Given the description of an element on the screen output the (x, y) to click on. 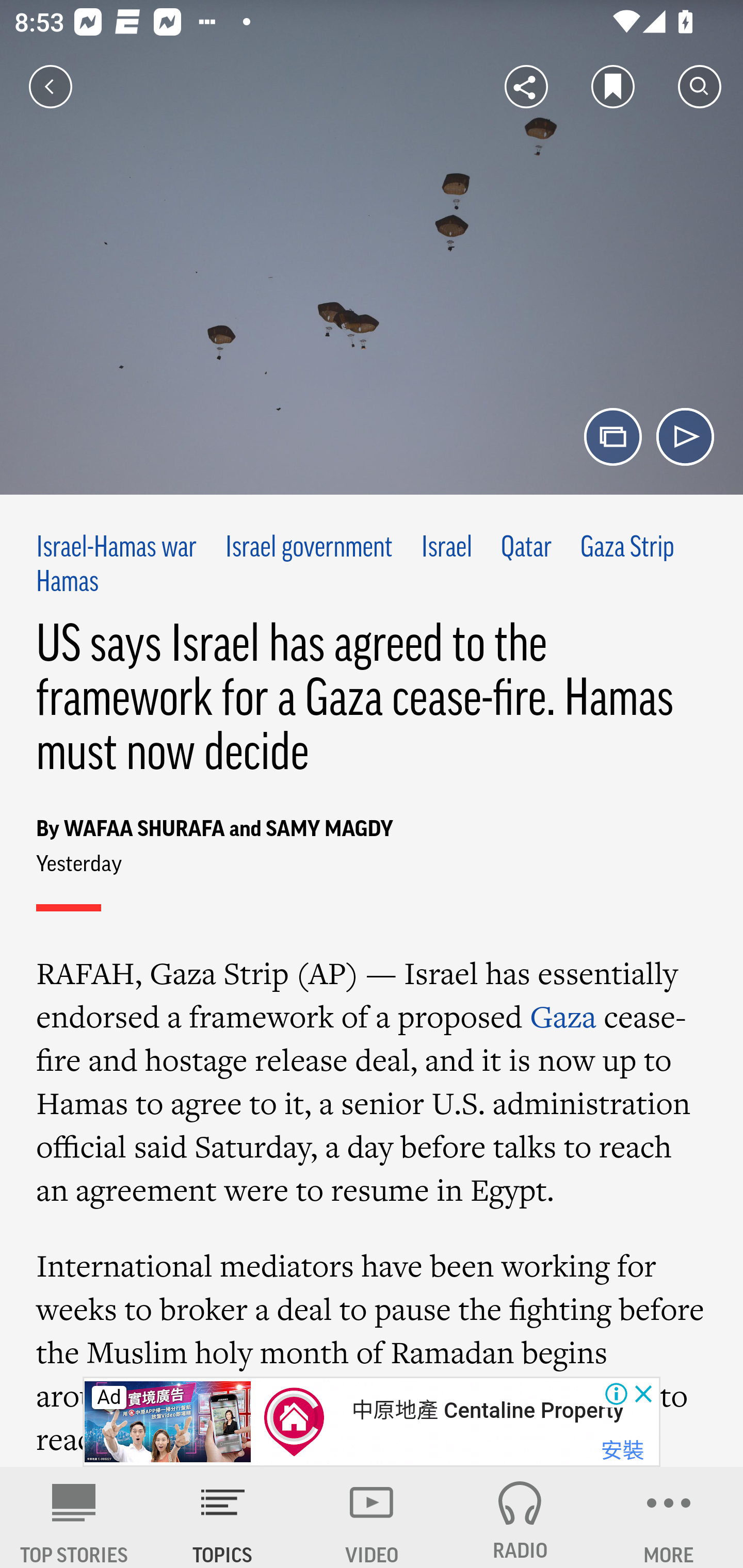
Israel-Hamas war (117, 548)
Israel government (308, 548)
Israel (446, 548)
Qatar (526, 548)
Gaza Strip (627, 548)
Hamas (67, 582)
Gaza (563, 1016)
中原地產 Centaline Property (486, 1410)
安裝 (621, 1450)
AP News TOP STORIES (74, 1517)
TOPICS (222, 1517)
VIDEO (371, 1517)
RADIO (519, 1517)
MORE (668, 1517)
